Given the description of an element on the screen output the (x, y) to click on. 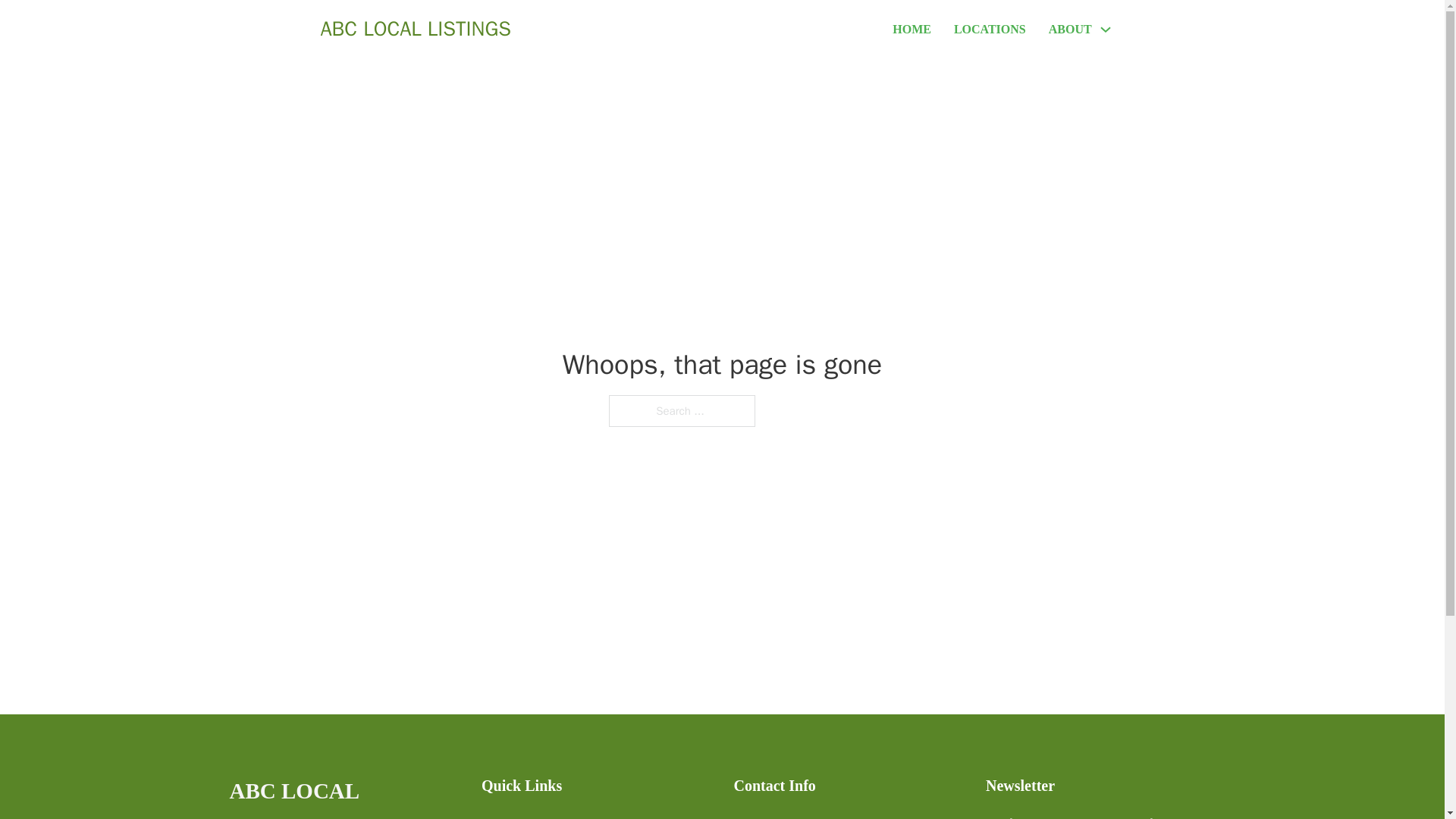
HOME (911, 28)
ABC LOCAL LISTINGS (415, 28)
LOCATIONS (989, 28)
Home (496, 816)
ABC LOCAL LISTINGS (343, 796)
